Given the description of an element on the screen output the (x, y) to click on. 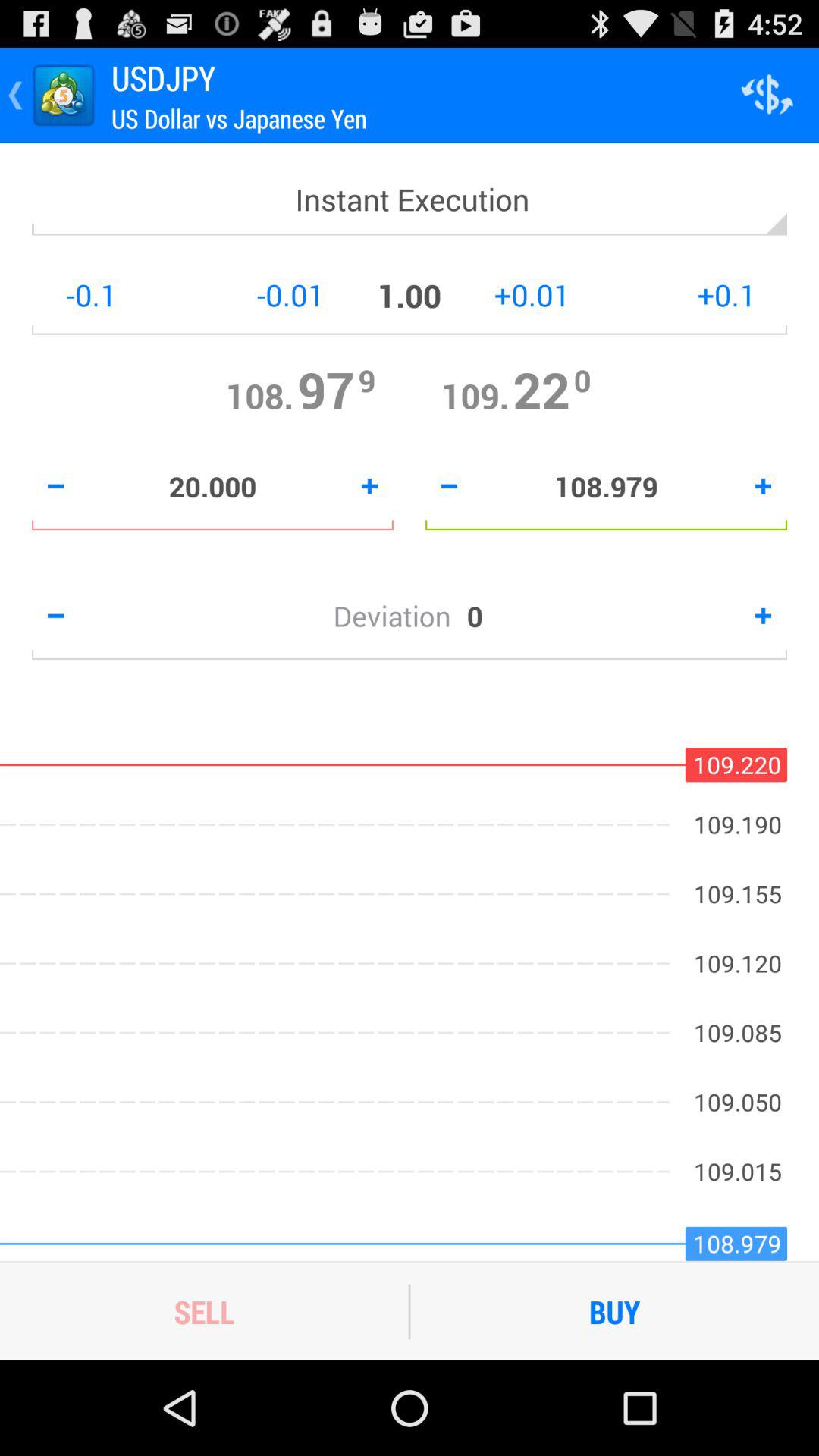
jump to the 20.000 item (212, 486)
